Given the description of an element on the screen output the (x, y) to click on. 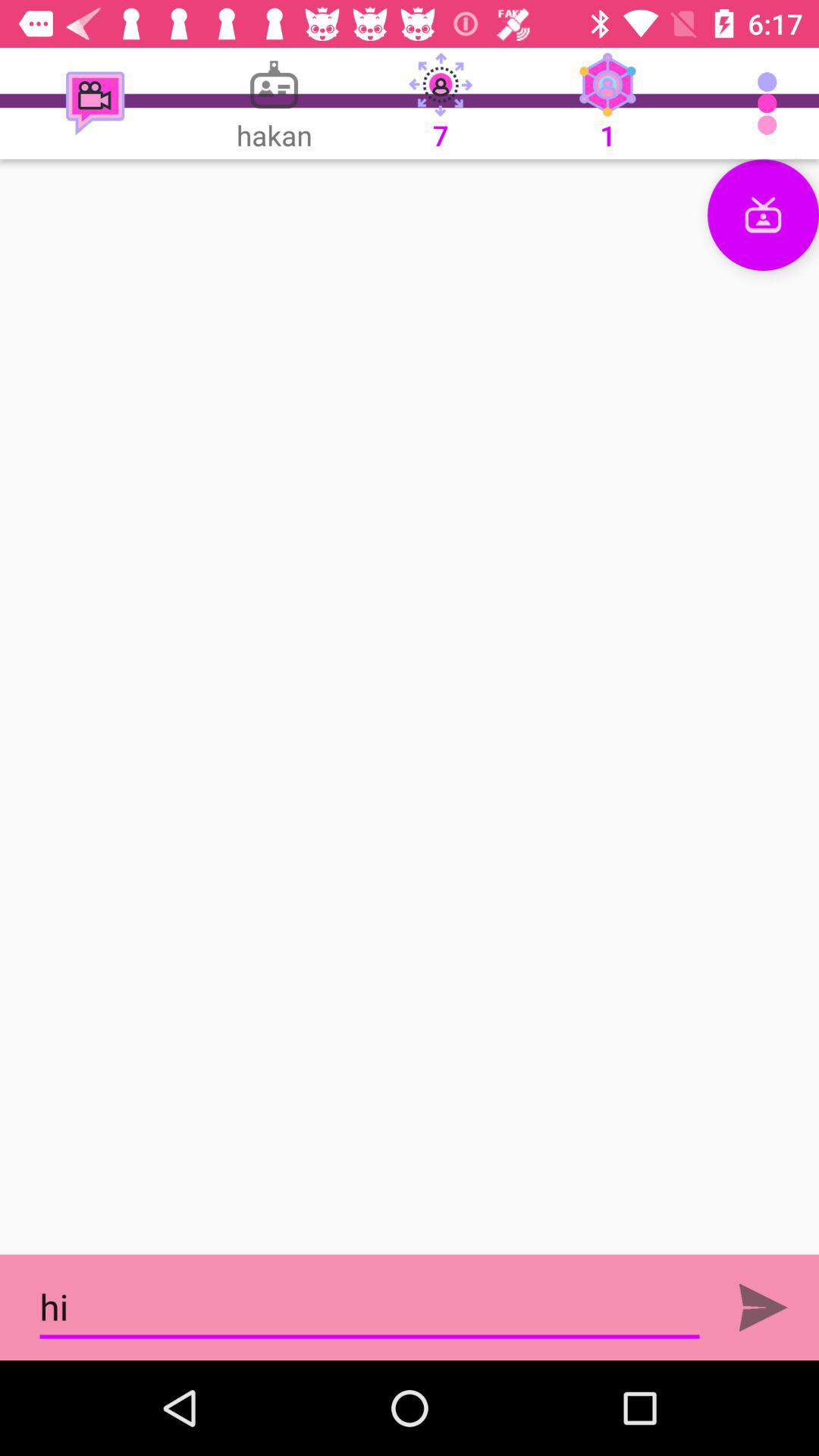
to send chat conversation (763, 1307)
